Given the description of an element on the screen output the (x, y) to click on. 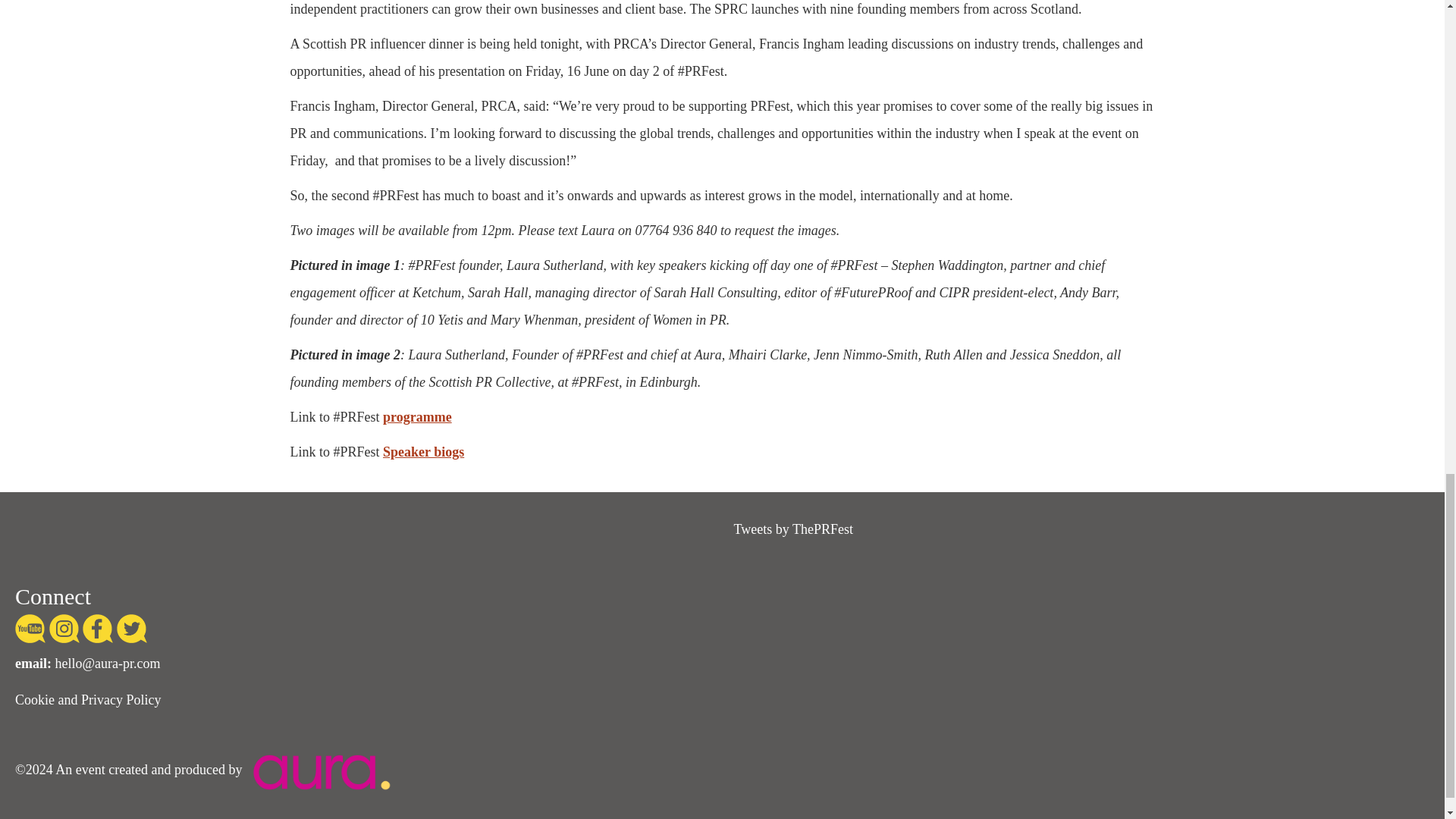
Cookie and Privacy Policy (87, 699)
Tweets by ThePRFest (793, 529)
programme (416, 417)
Speaker biogs (423, 451)
